Given the description of an element on the screen output the (x, y) to click on. 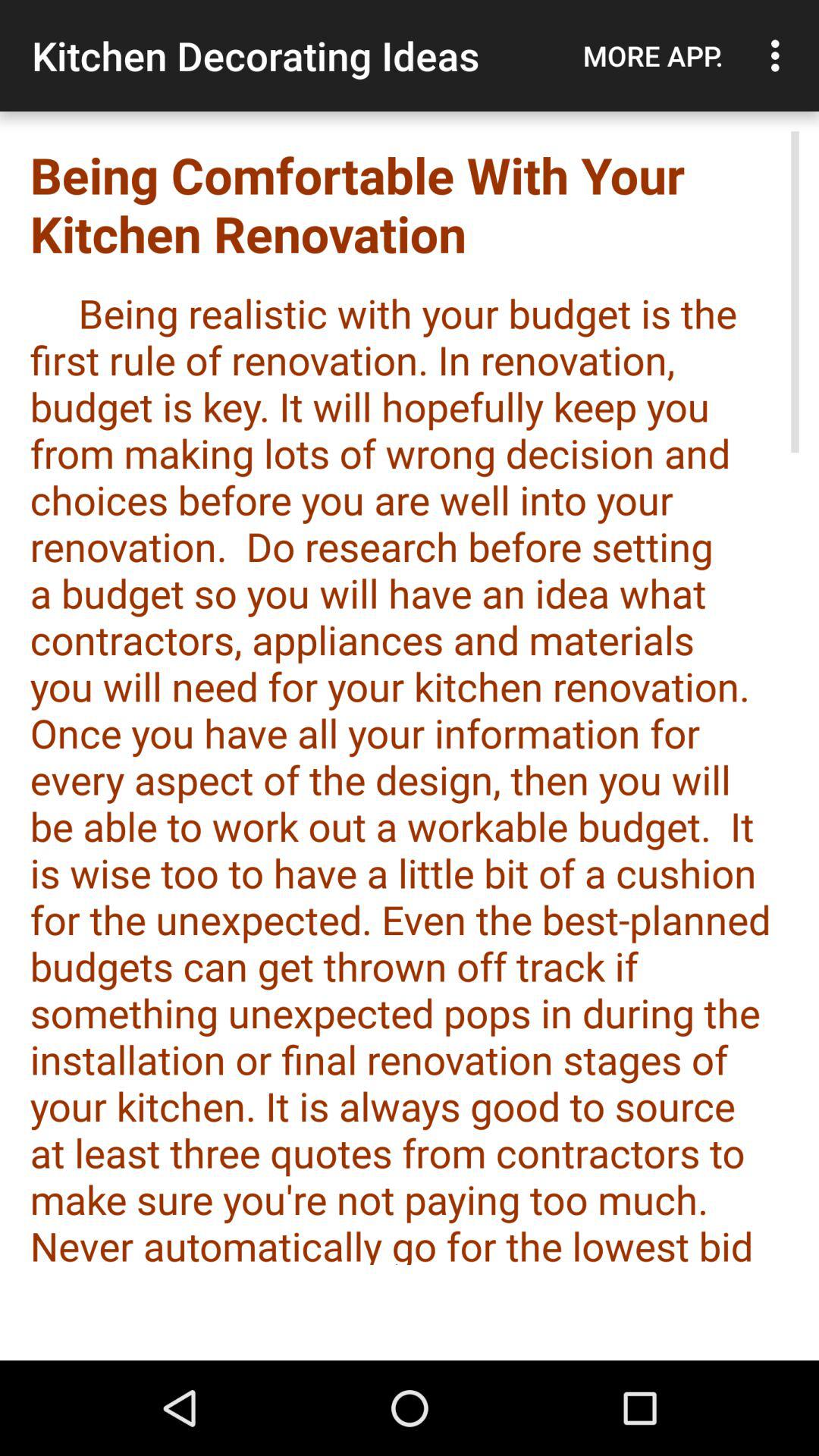
turn on icon above being comfortable with icon (779, 55)
